Given the description of an element on the screen output the (x, y) to click on. 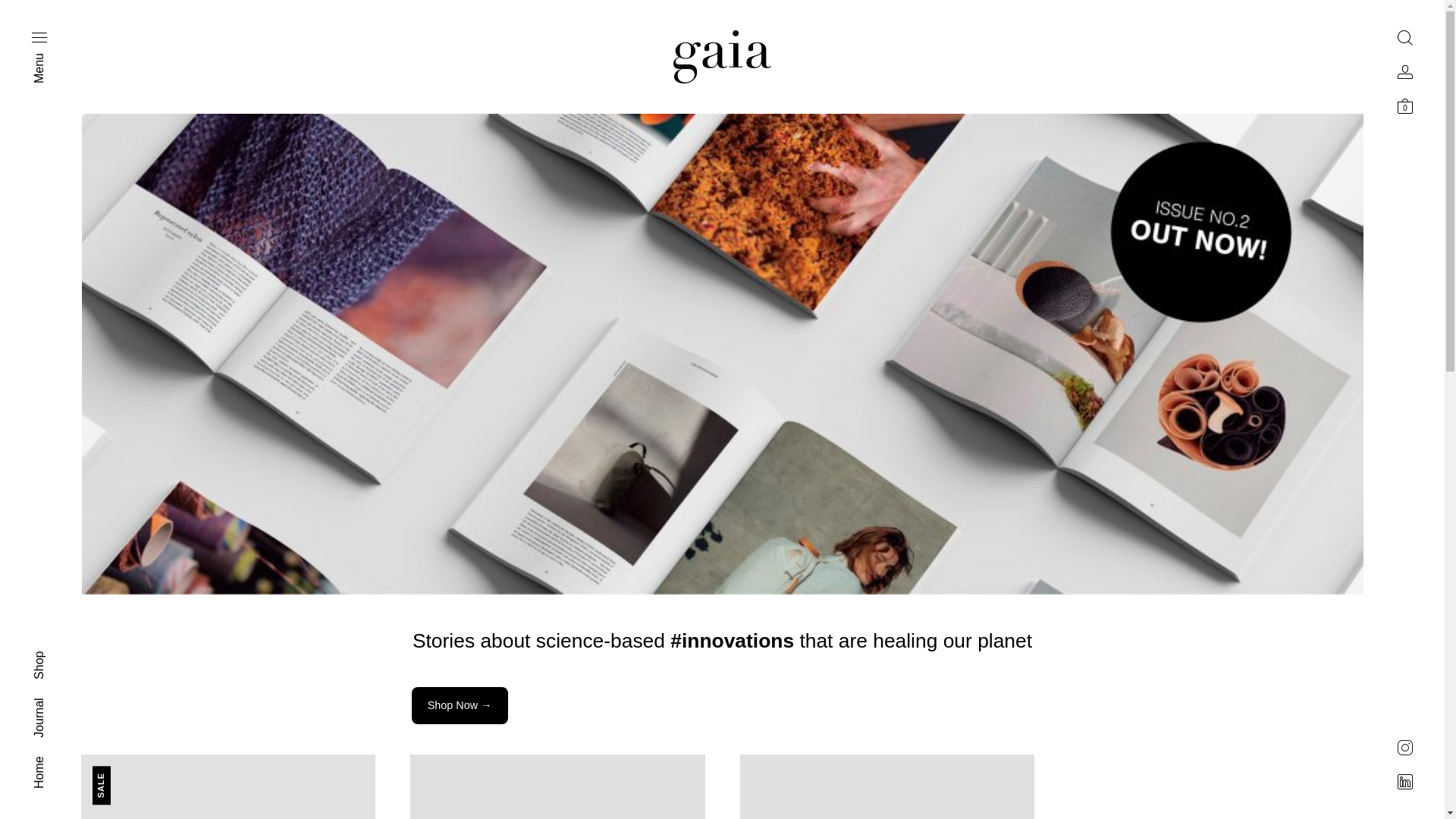
Journal Element type: text (52, 703)
Shop Element type: text (46, 657)
Home Element type: text (48, 762)
